Given the description of an element on the screen output the (x, y) to click on. 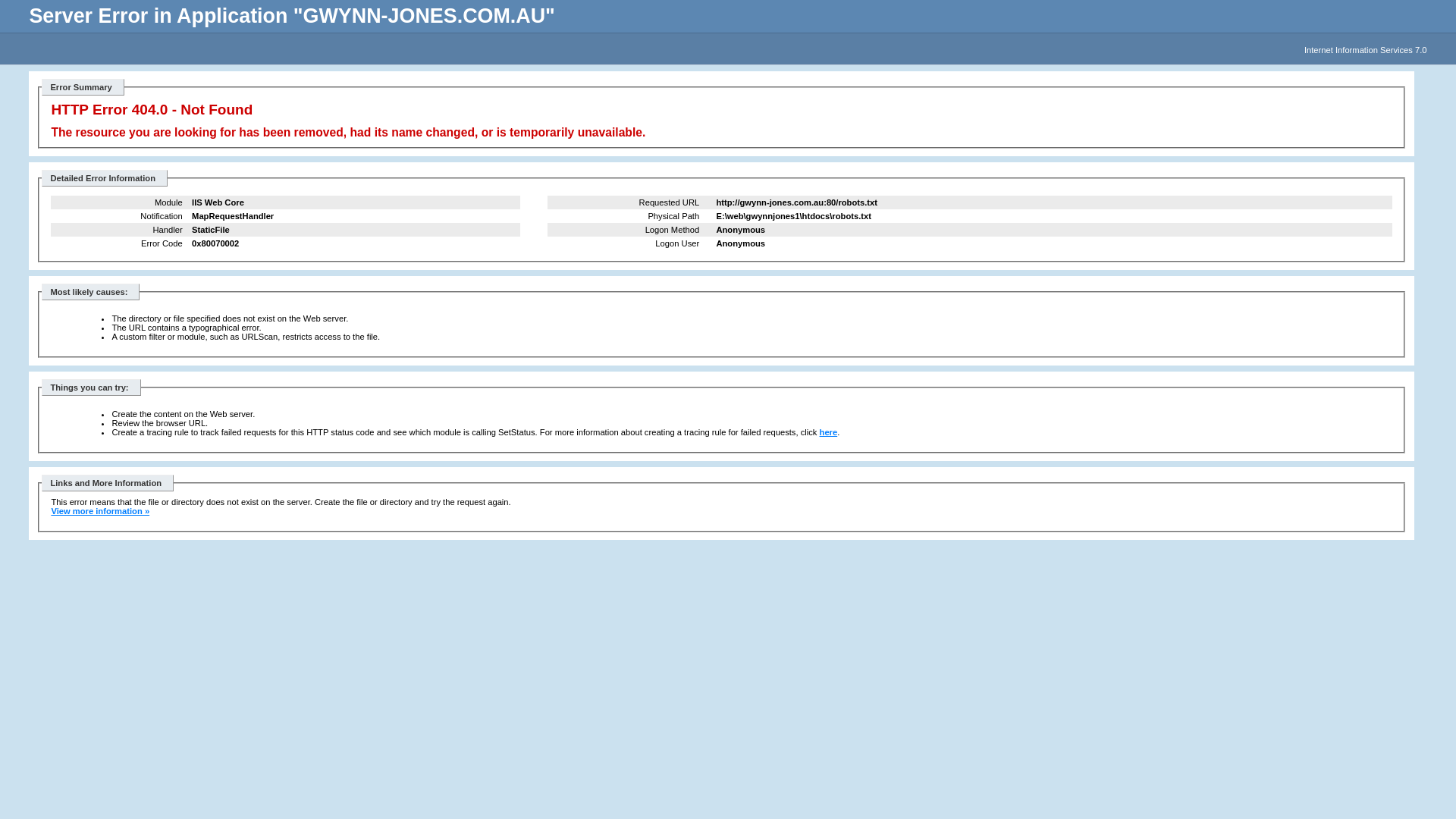
here Element type: text (828, 431)
